Given the description of an element on the screen output the (x, y) to click on. 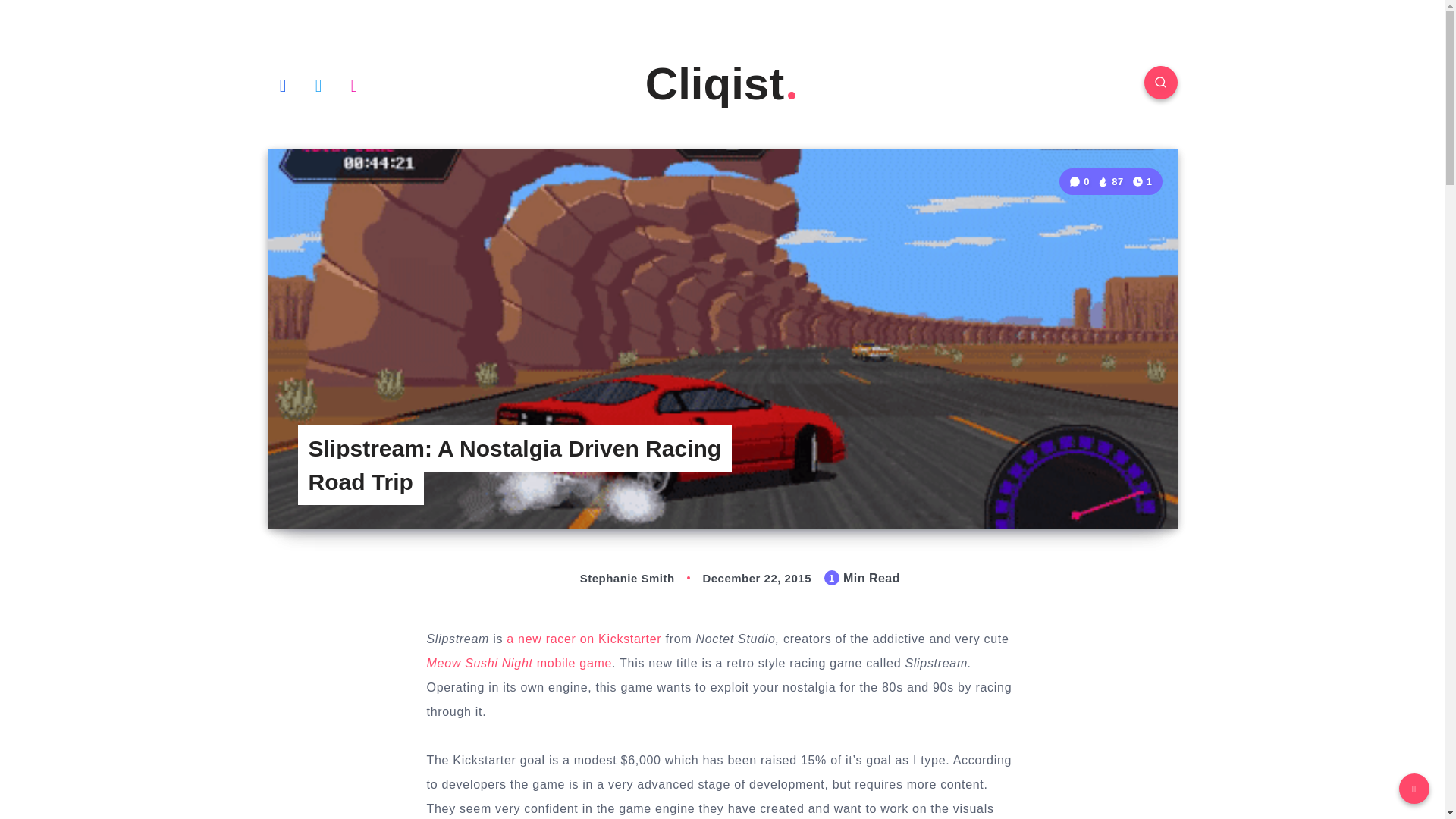
0 Comments (1080, 181)
87 Views (1110, 181)
a new racer on Kickstarter (583, 638)
Cliqist (722, 83)
Author: Stephanie Smith (611, 577)
1 Min Read (1142, 181)
Meow Sushi Night mobile game (518, 662)
Stephanie Smith (611, 577)
0 (1080, 181)
